Given the description of an element on the screen output the (x, y) to click on. 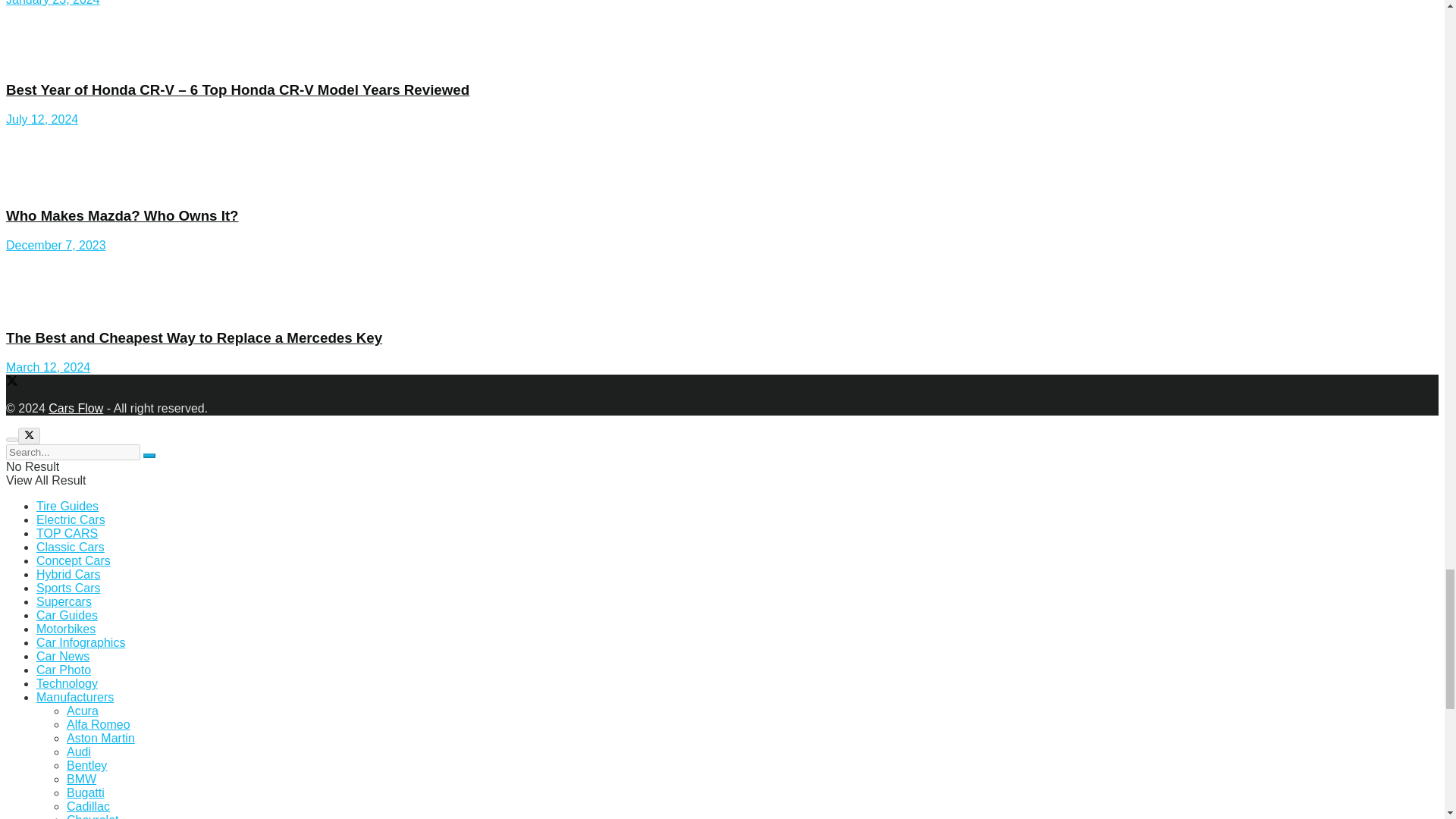
Cars Flow (75, 408)
